Given the description of an element on the screen output the (x, y) to click on. 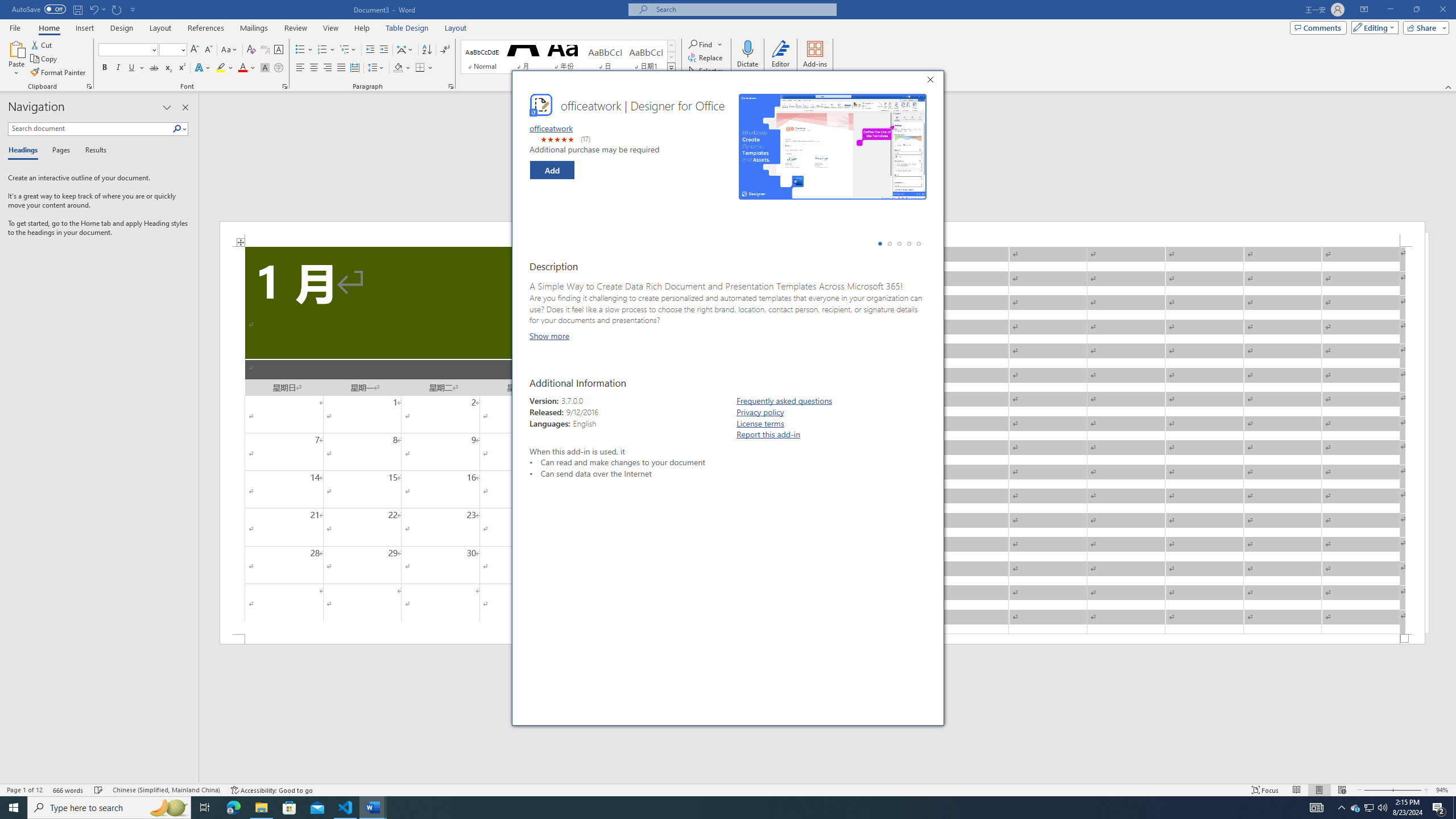
officeatwork | Designer for Office icon (540, 105)
Can read and make changes to your document (638, 462)
